Given the description of an element on the screen output the (x, y) to click on. 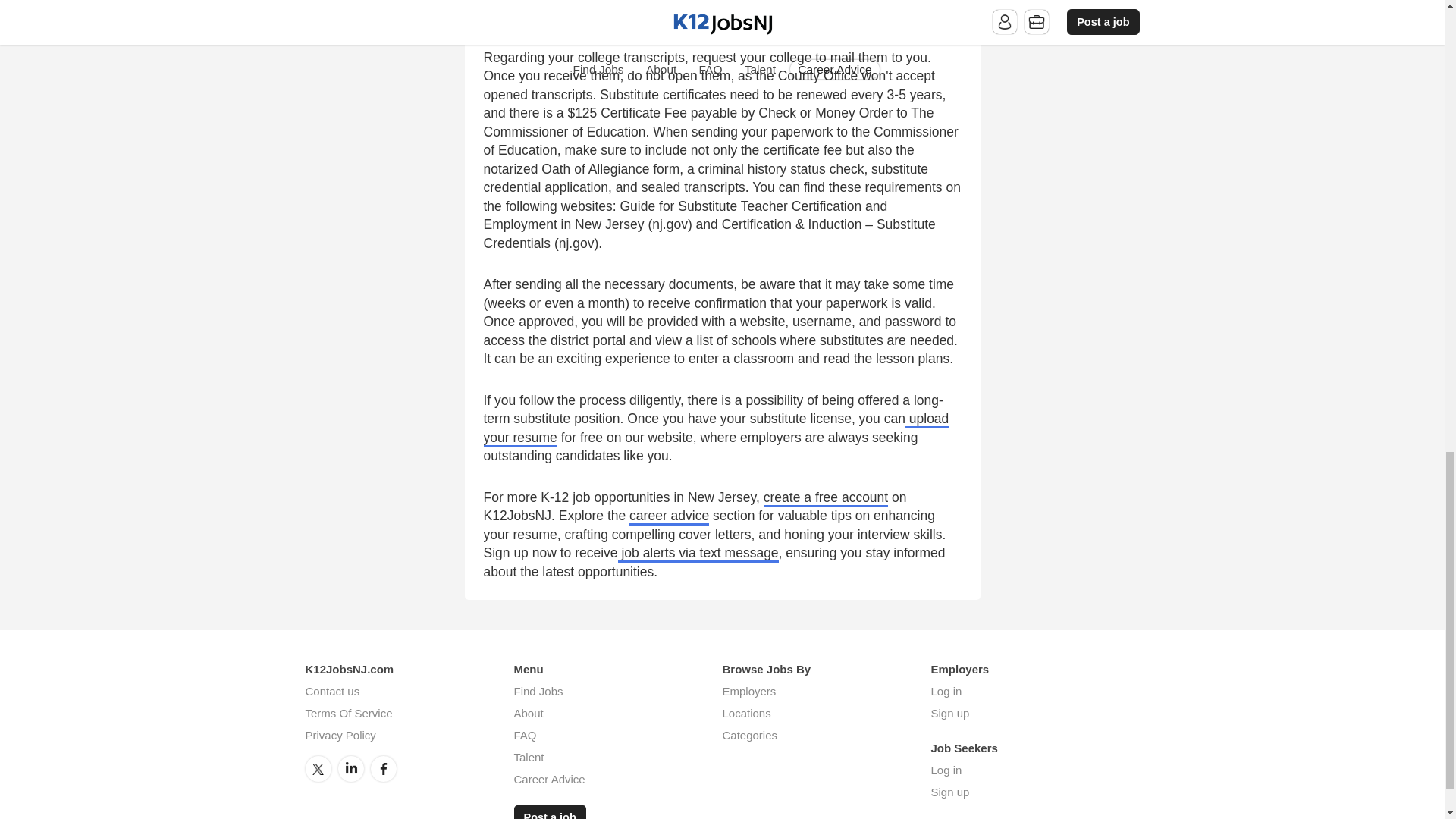
About (528, 712)
Facebook (383, 768)
Privacy Policy (339, 735)
upload your resume (716, 429)
LinkedIn (350, 768)
Categories (749, 735)
career advice (668, 516)
Terms Of Service (347, 712)
create a free account (825, 497)
Contact us (331, 690)
job alerts via text message (697, 553)
FAQ (525, 735)
Sign up (950, 712)
Talent (528, 757)
Twitter (317, 768)
